Given the description of an element on the screen output the (x, y) to click on. 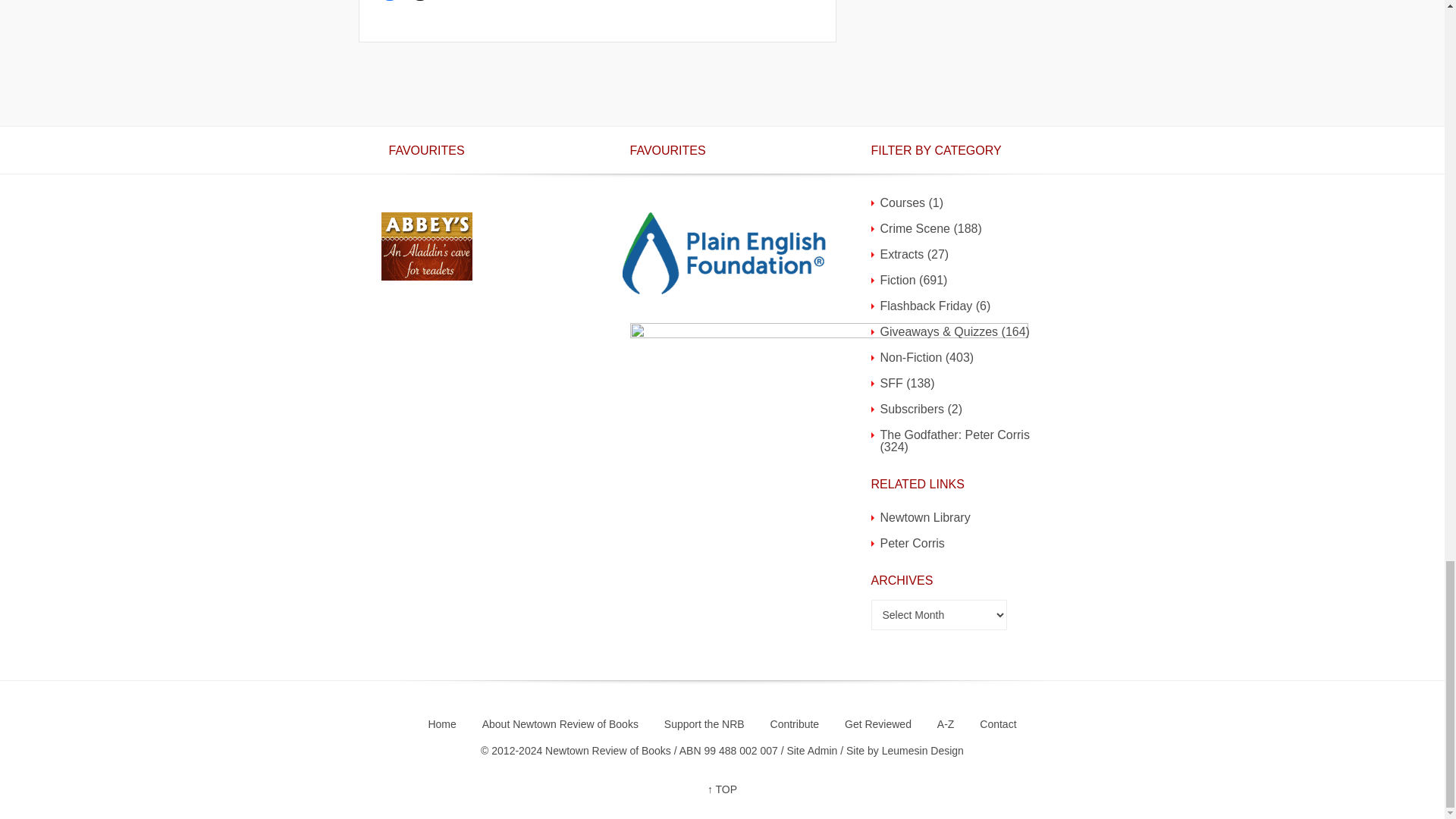
Abbey's Bookshop (425, 246)
Plain English Foundation (724, 253)
